Given the description of an element on the screen output the (x, y) to click on. 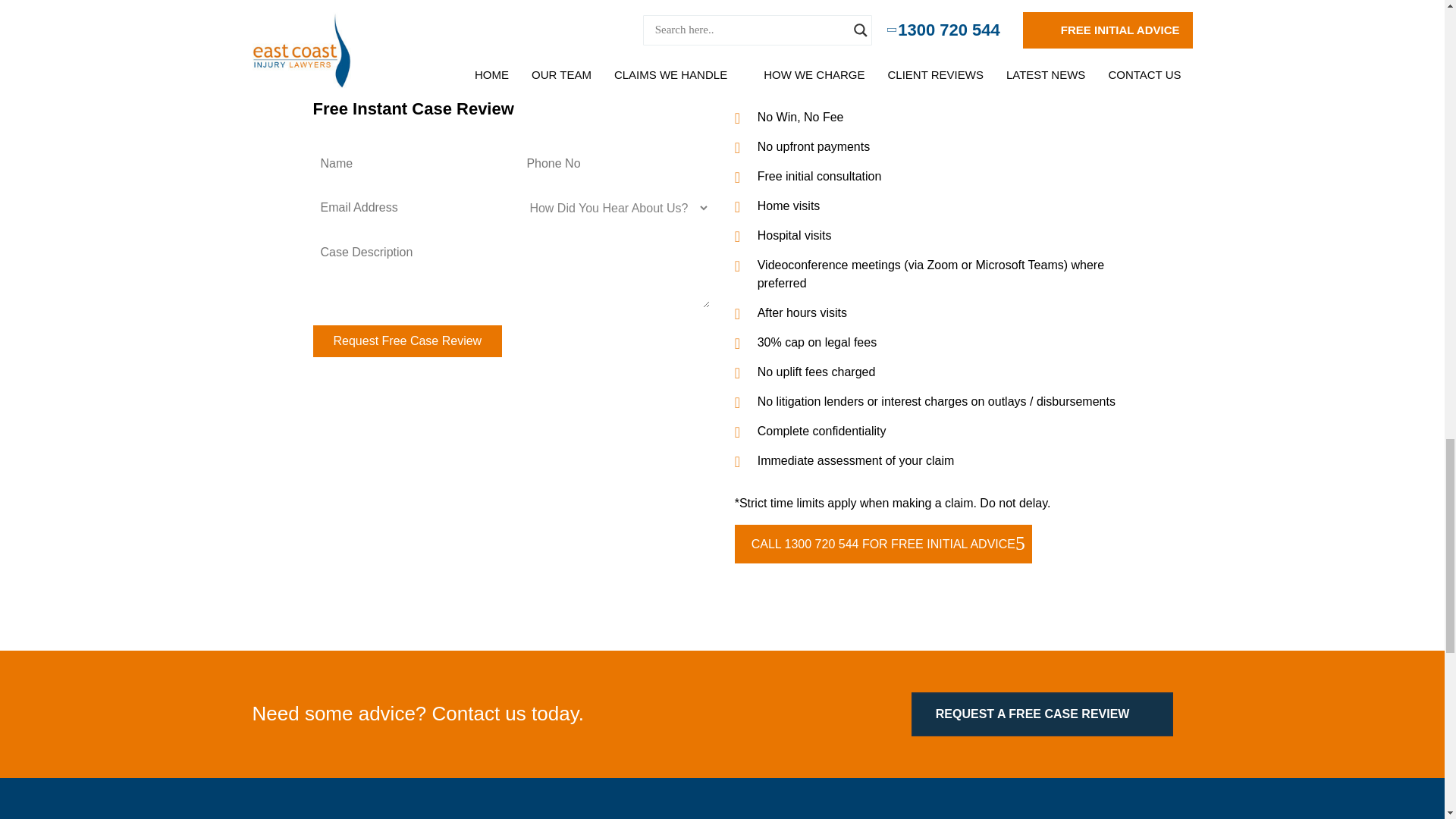
Request Free Case Review (407, 341)
